Given the description of an element on the screen output the (x, y) to click on. 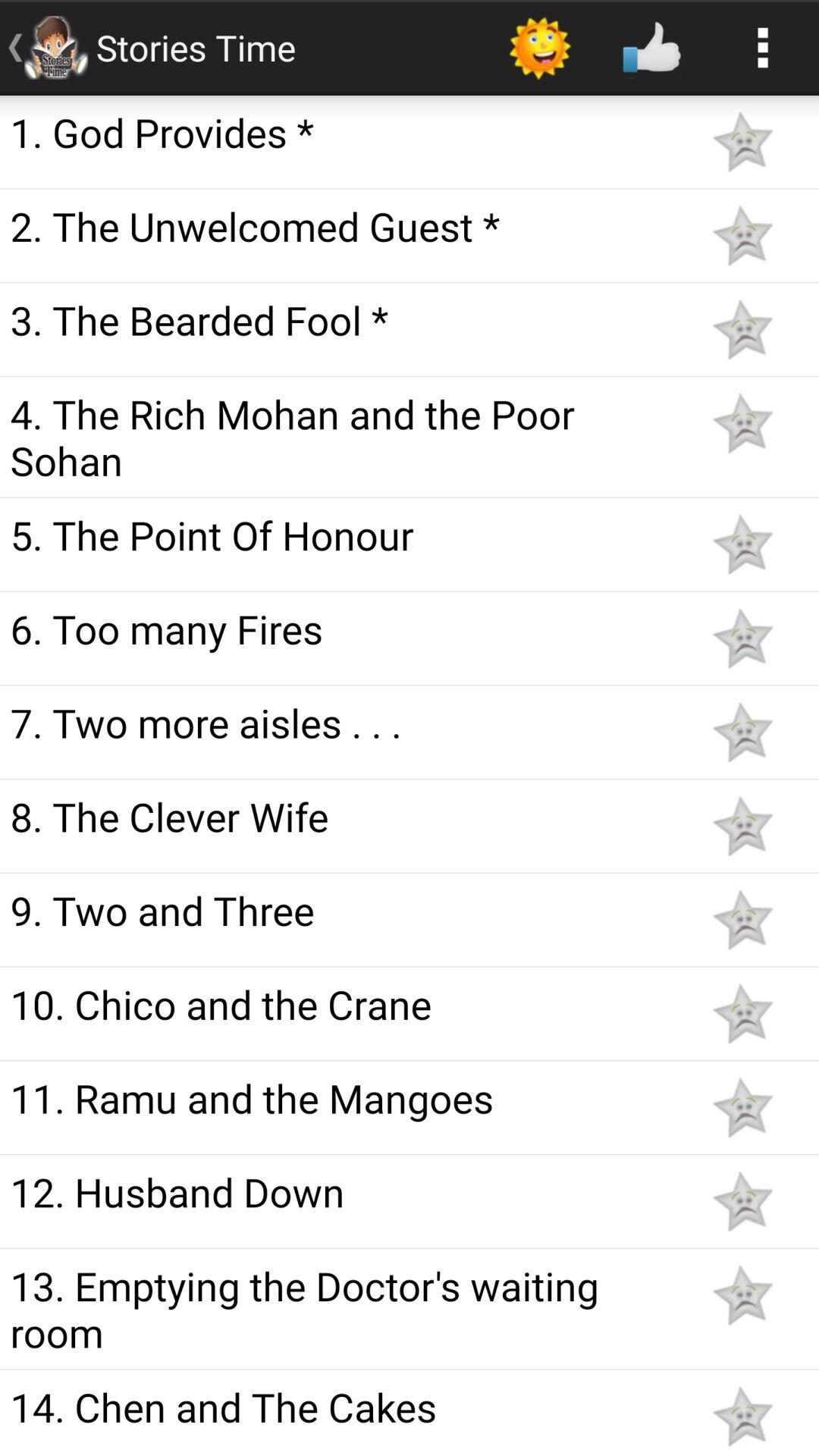
favorite (742, 141)
